Given the description of an element on the screen output the (x, y) to click on. 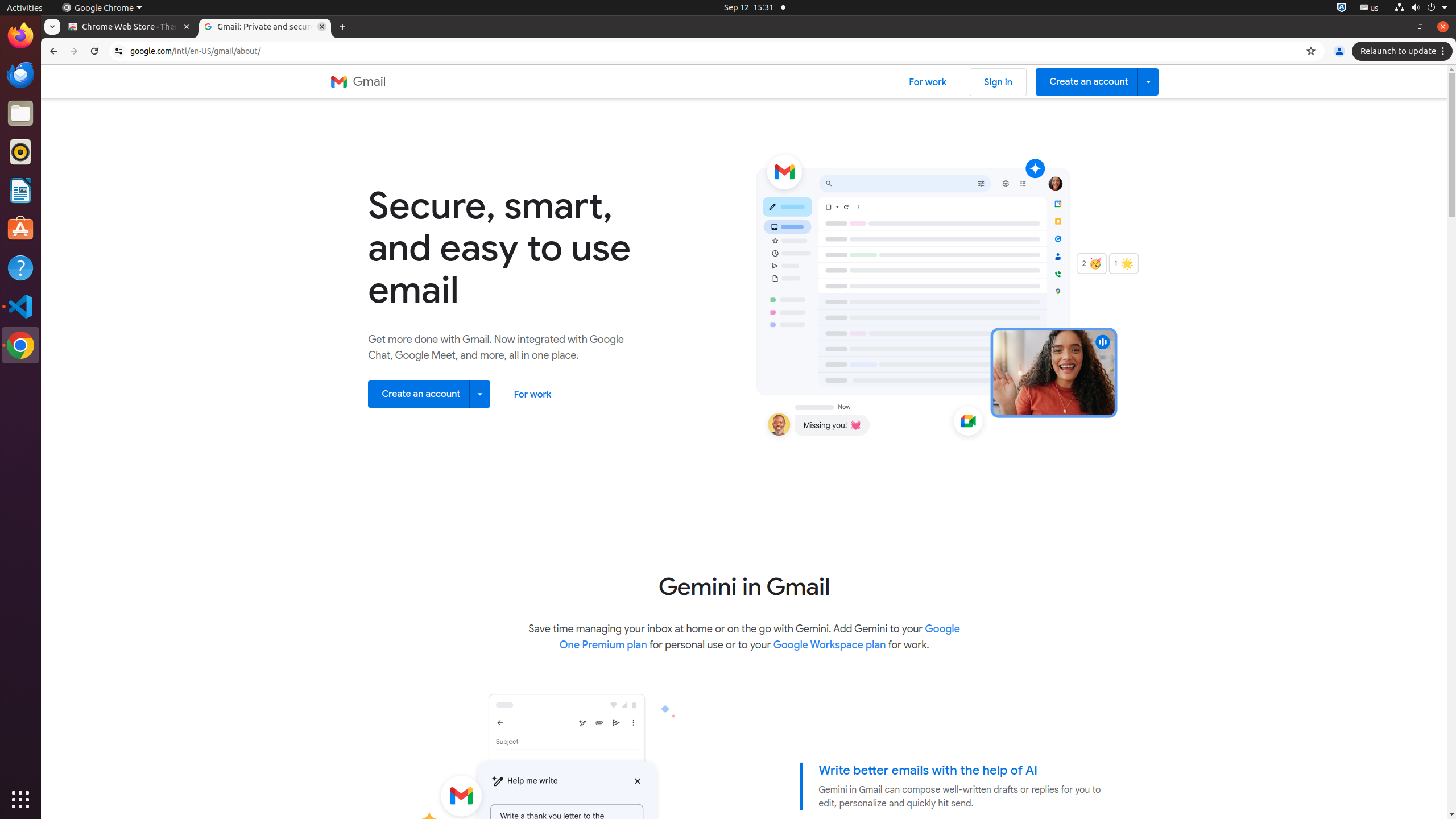
LibreOffice Writer Element type: push-button (20, 190)
Write better emails with the help of AI Gemini in Gmail can compose well-written drafts or replies for you to edit, personalize and quickly hit send. Element type: page-tab (962, 786)
Google Workspace plan Element type: link (829, 644)
New Tab Element type: push-button (342, 26)
Relaunch to update Element type: push-button (1403, 50)
